Given the description of an element on the screen output the (x, y) to click on. 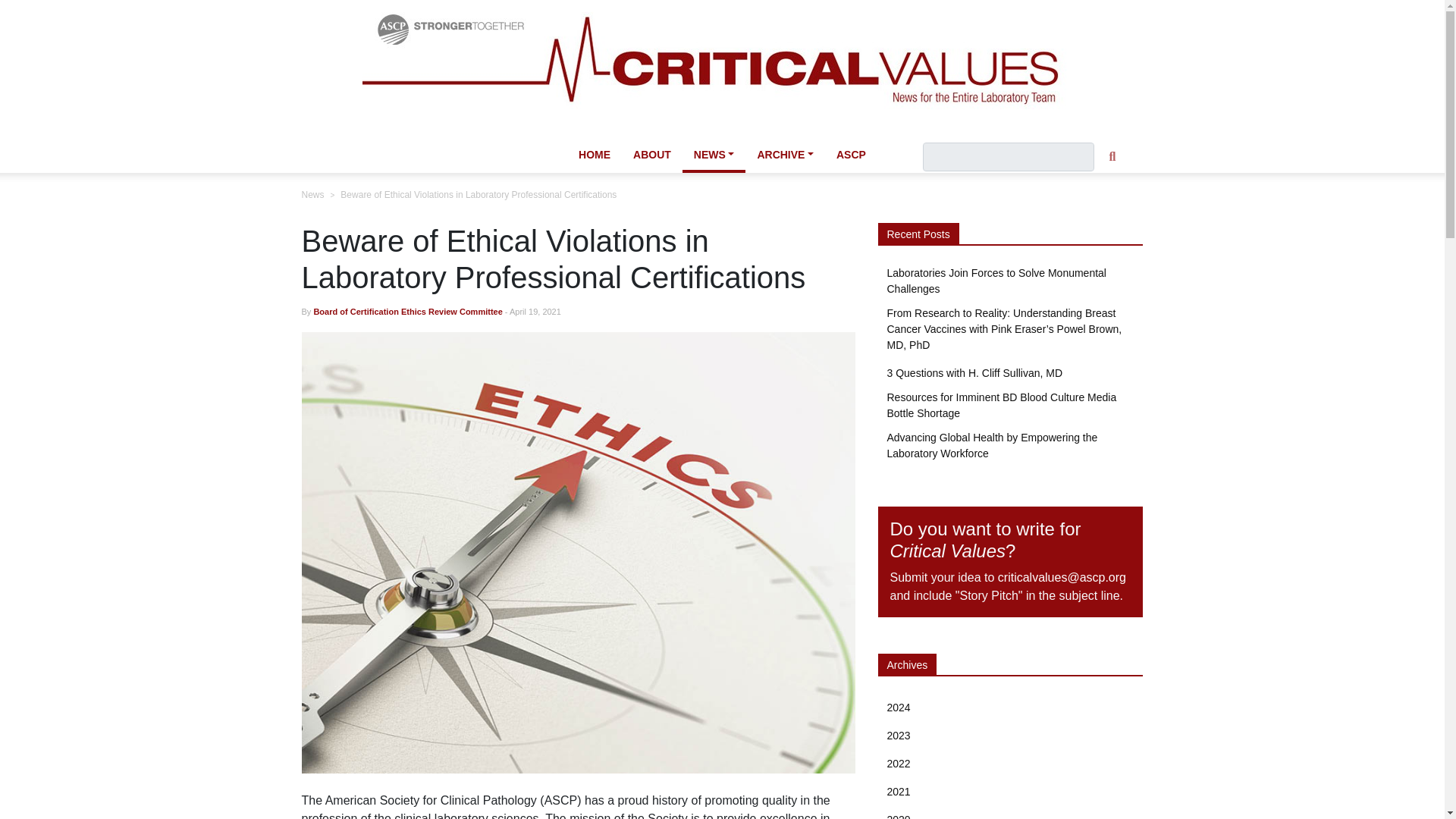
ABOUT (651, 154)
NEWS (713, 156)
Open image in original size (722, 65)
HOME (594, 154)
ASCP Critical Values (722, 67)
